Given the description of an element on the screen output the (x, y) to click on. 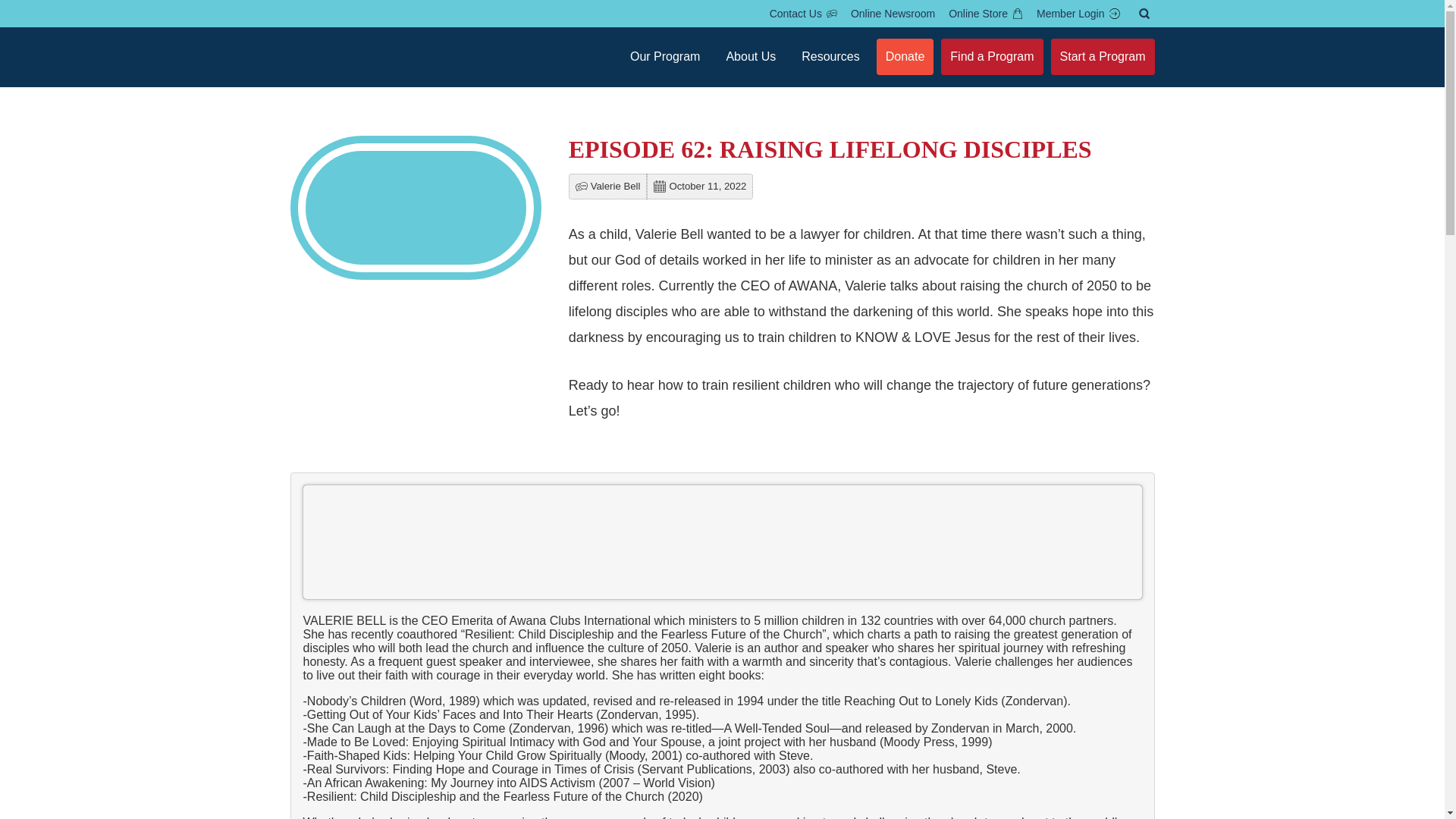
Online Store (985, 13)
Follow text link to Member Login page (1077, 13)
Start a Program (1102, 56)
Contact Us (803, 13)
Follow text link to Online Store page (985, 13)
Member Login (1077, 13)
Follow text link to Online Newsroom page (892, 13)
Bible2School (341, 92)
Follow text link to Search page (1143, 13)
Follow text link to Our Program page (665, 56)
